Given the description of an element on the screen output the (x, y) to click on. 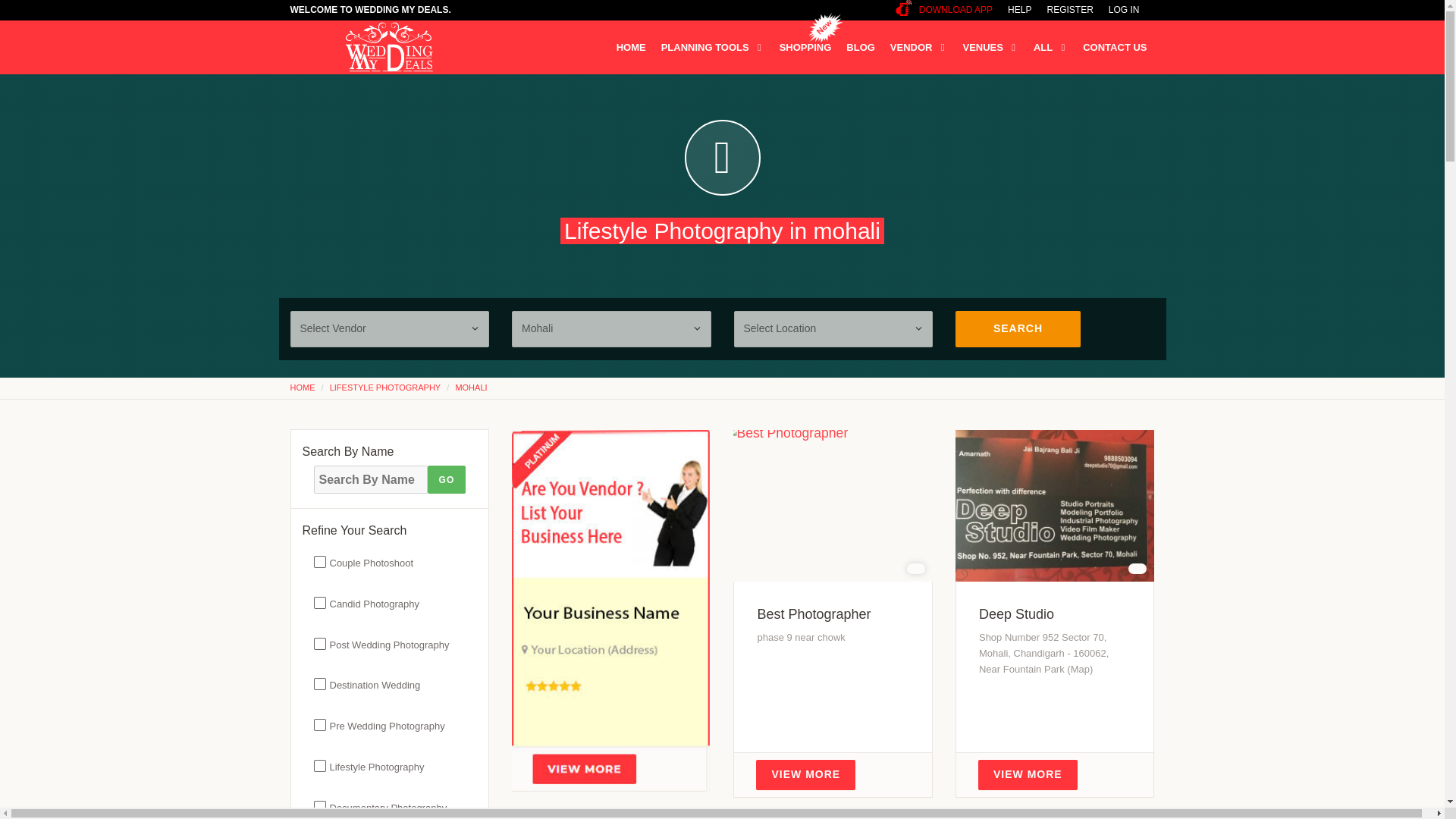
30 (307, 684)
LOG IN (1124, 9)
32 (307, 603)
HELP (1018, 9)
34 (307, 766)
31 (307, 644)
Best Photographer  in Mohali  (813, 613)
VENUES (990, 47)
PLANNING TOOLS (712, 47)
29 (307, 725)
35 (307, 806)
DOWNLOAD APP (942, 9)
Deep Studio in mohali  (1016, 613)
REGISTER (1069, 9)
SHOPPING (805, 47)
